Given the description of an element on the screen output the (x, y) to click on. 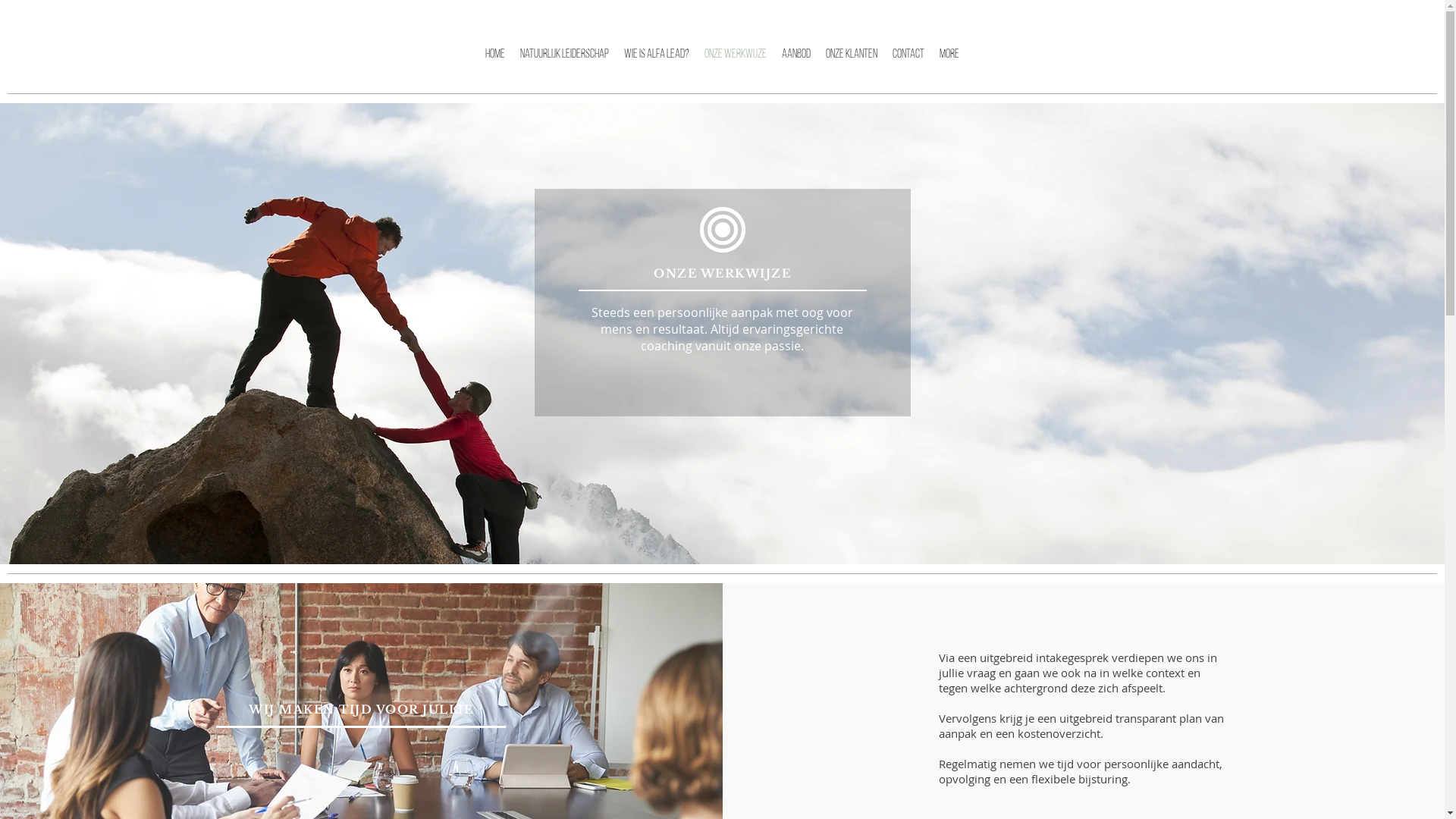
Home Element type: text (494, 65)
Onze werkwijze Element type: text (735, 65)
Natuurlijk leiderschap Element type: text (564, 65)
Aanbod Element type: text (796, 65)
Onze klanten Element type: text (851, 65)
Wie is Alfa Lead? Element type: text (656, 65)
Contact Element type: text (907, 65)
